Given the description of an element on the screen output the (x, y) to click on. 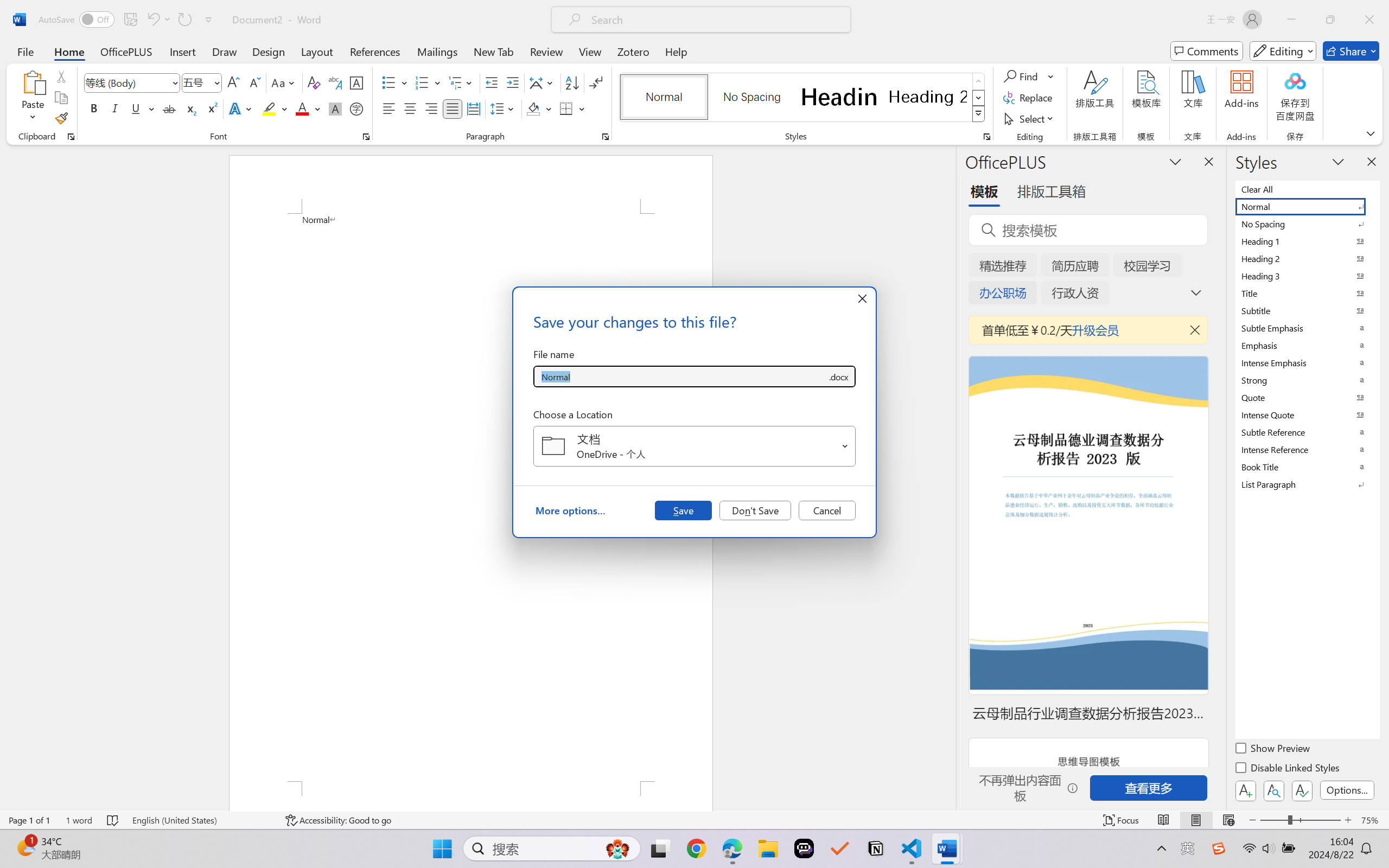
Styles (978, 113)
Help (675, 51)
Comments (1206, 50)
Focus  (1121, 819)
Center (409, 108)
Intense Emphasis (1306, 362)
Text Highlight Color (274, 108)
Styles... (986, 136)
Layout (316, 51)
Heading 2 (927, 96)
